Given the description of an element on the screen output the (x, y) to click on. 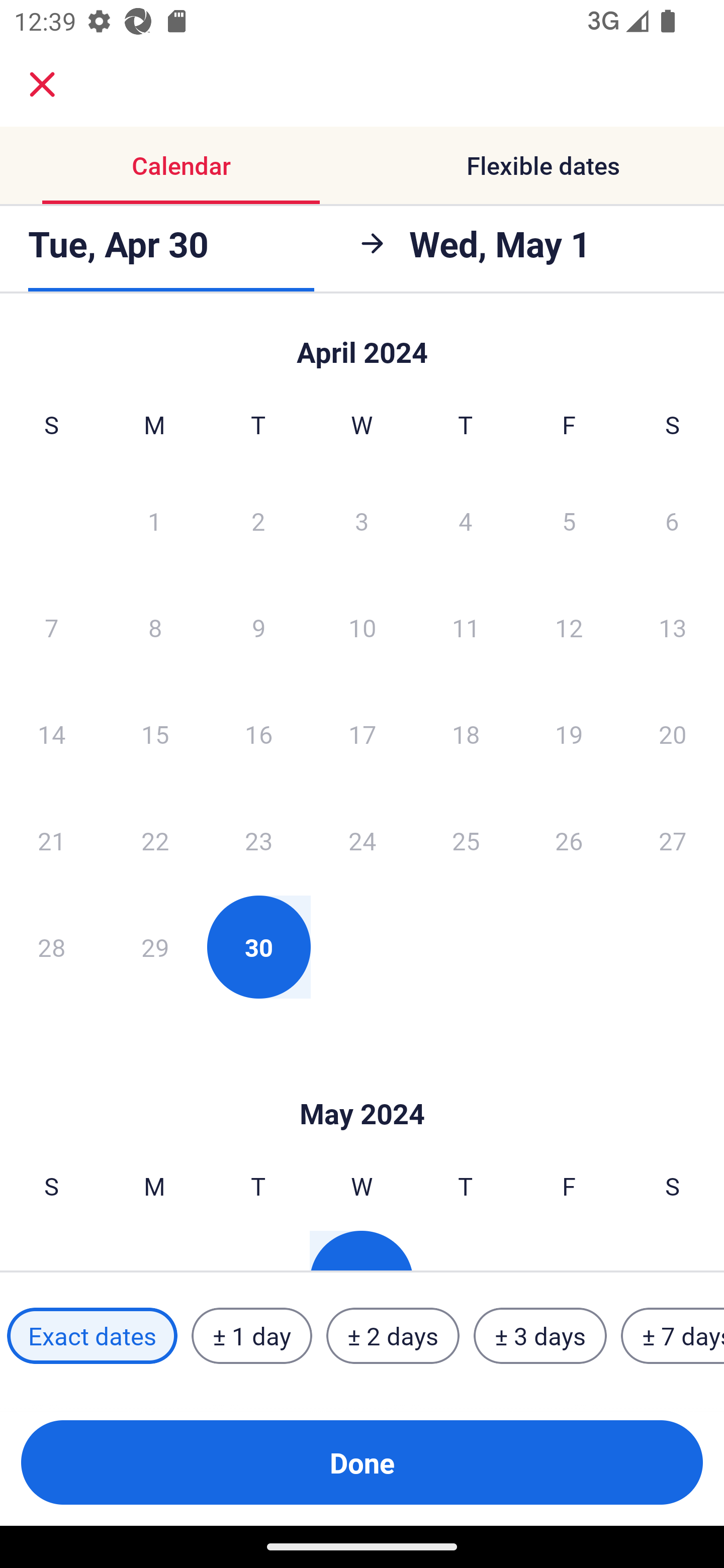
close. (42, 84)
Flexible dates (542, 164)
Skip to Done (362, 343)
1 Monday, April 1, 2024 (154, 520)
2 Tuesday, April 2, 2024 (257, 520)
3 Wednesday, April 3, 2024 (361, 520)
4 Thursday, April 4, 2024 (465, 520)
5 Friday, April 5, 2024 (568, 520)
6 Saturday, April 6, 2024 (672, 520)
7 Sunday, April 7, 2024 (51, 626)
8 Monday, April 8, 2024 (155, 626)
9 Tuesday, April 9, 2024 (258, 626)
10 Wednesday, April 10, 2024 (362, 626)
11 Thursday, April 11, 2024 (465, 626)
12 Friday, April 12, 2024 (569, 626)
13 Saturday, April 13, 2024 (672, 626)
14 Sunday, April 14, 2024 (51, 733)
15 Monday, April 15, 2024 (155, 733)
16 Tuesday, April 16, 2024 (258, 733)
17 Wednesday, April 17, 2024 (362, 733)
18 Thursday, April 18, 2024 (465, 733)
19 Friday, April 19, 2024 (569, 733)
20 Saturday, April 20, 2024 (672, 733)
21 Sunday, April 21, 2024 (51, 840)
22 Monday, April 22, 2024 (155, 840)
23 Tuesday, April 23, 2024 (258, 840)
24 Wednesday, April 24, 2024 (362, 840)
25 Thursday, April 25, 2024 (465, 840)
26 Friday, April 26, 2024 (569, 840)
27 Saturday, April 27, 2024 (672, 840)
28 Sunday, April 28, 2024 (51, 946)
29 Monday, April 29, 2024 (155, 946)
Skip to Done (362, 1083)
Exact dates (92, 1335)
± 1 day (251, 1335)
± 2 days (392, 1335)
± 3 days (539, 1335)
± 7 days (672, 1335)
Done (361, 1462)
